Given the description of an element on the screen output the (x, y) to click on. 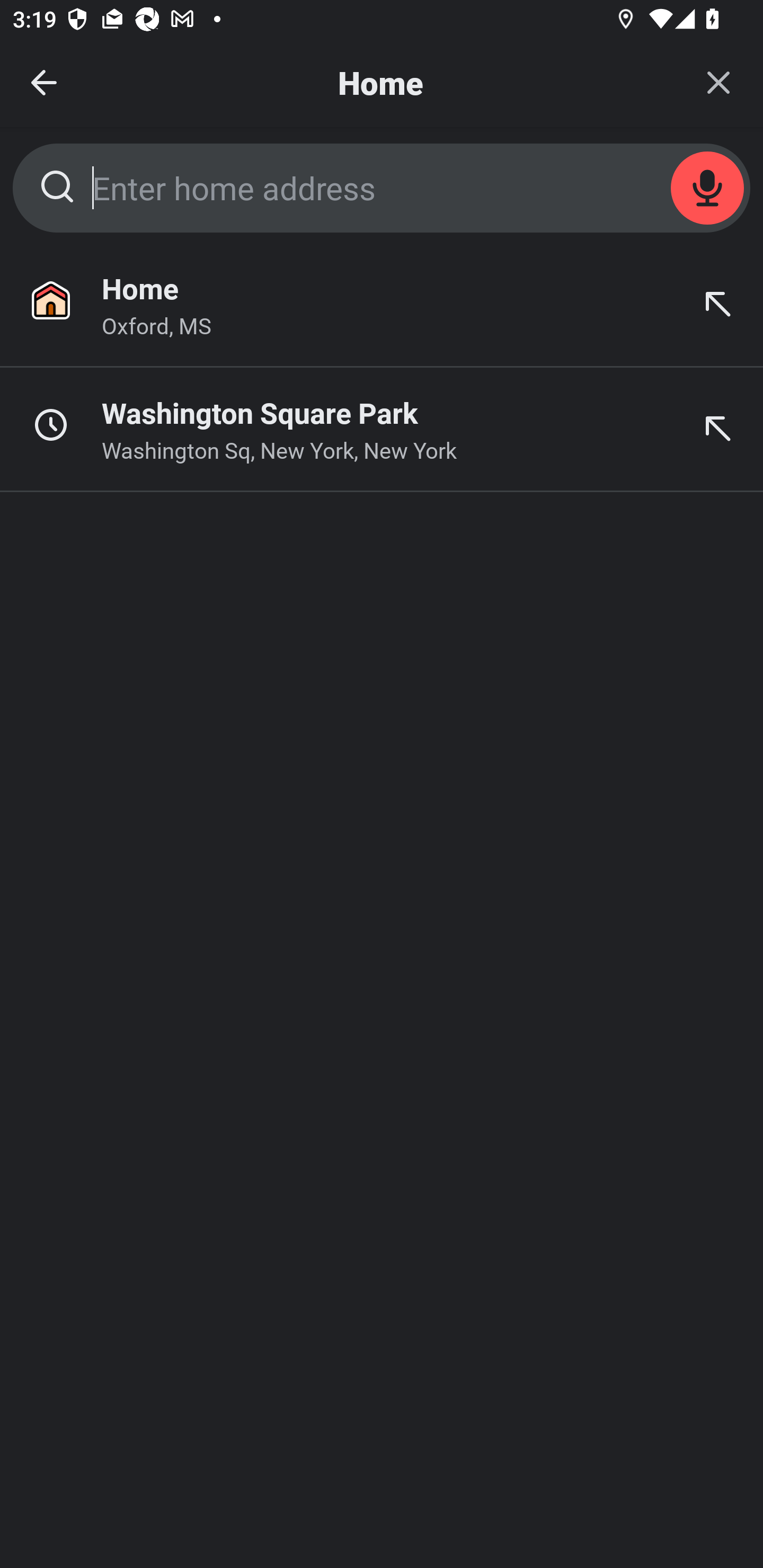
Enter home address (381, 188)
